Given the description of an element on the screen output the (x, y) to click on. 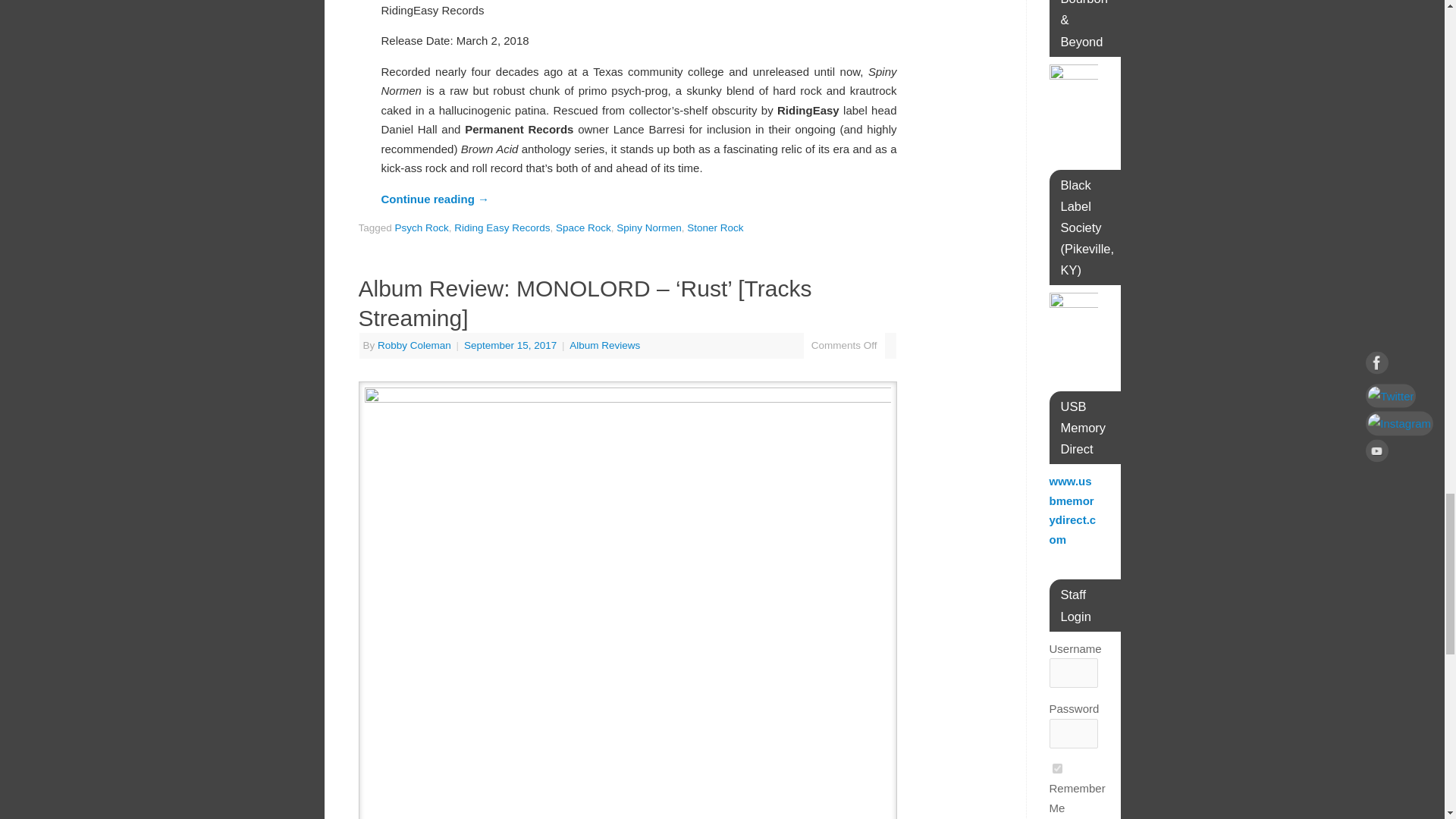
forever (1057, 768)
View all posts by Robby Coleman (414, 345)
